Given the description of an element on the screen output the (x, y) to click on. 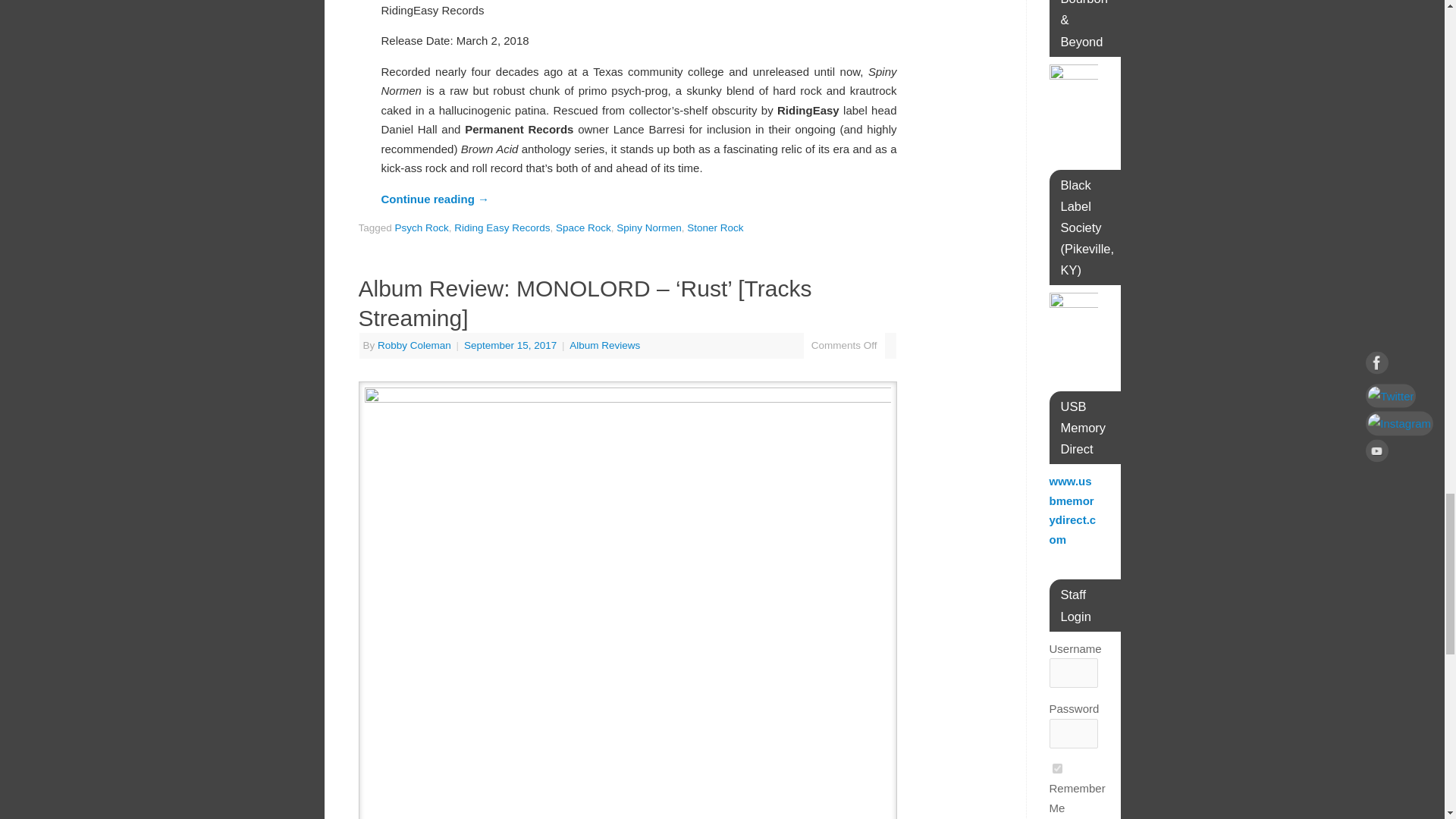
forever (1057, 768)
View all posts by Robby Coleman (414, 345)
